Given the description of an element on the screen output the (x, y) to click on. 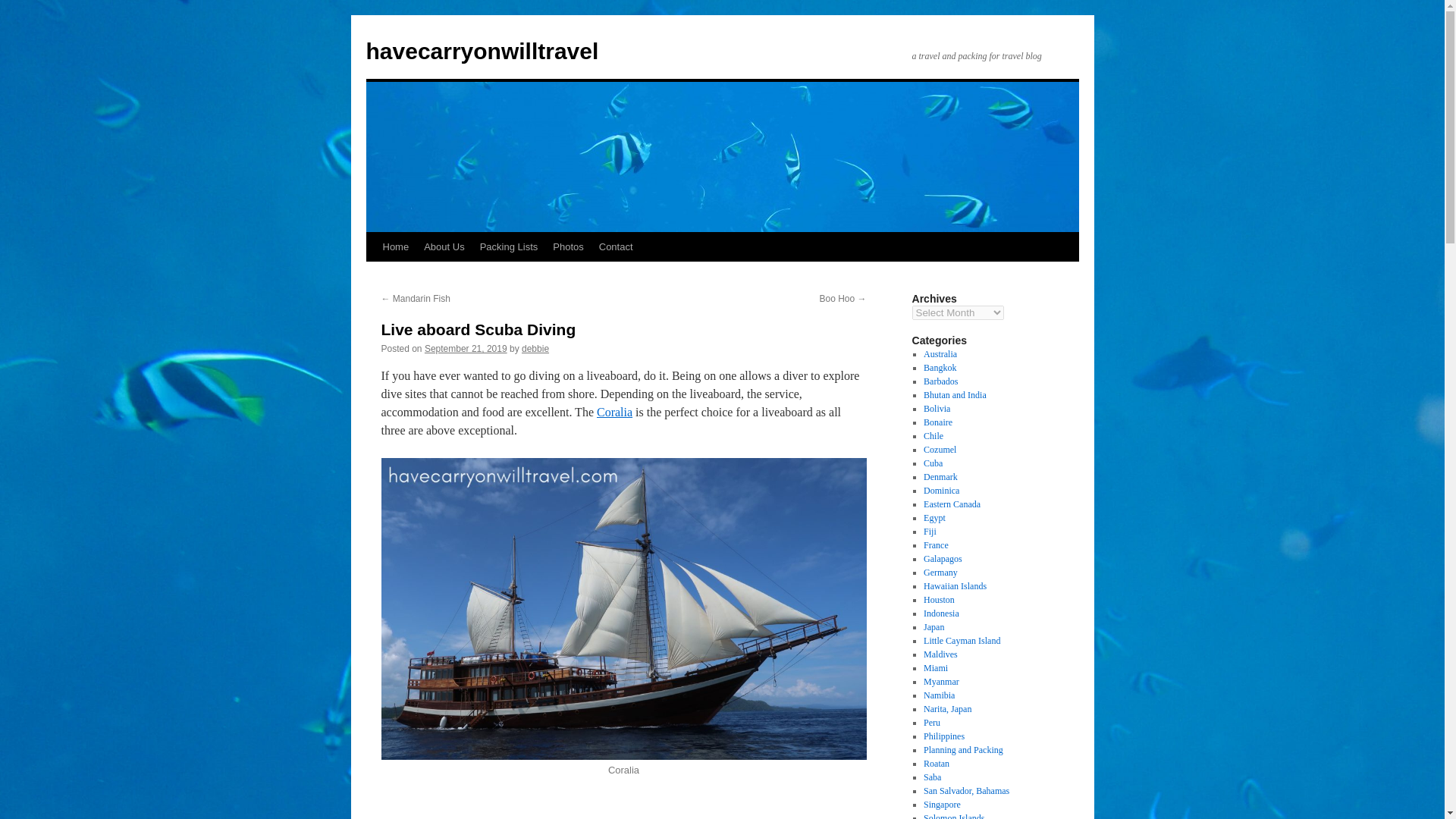
7:35 pm (465, 348)
View all posts by debbie (534, 348)
Packing Lists (508, 246)
About Us (443, 246)
Photos (567, 246)
Home (395, 246)
havecarryonwilltravel (481, 50)
